Given the description of an element on the screen output the (x, y) to click on. 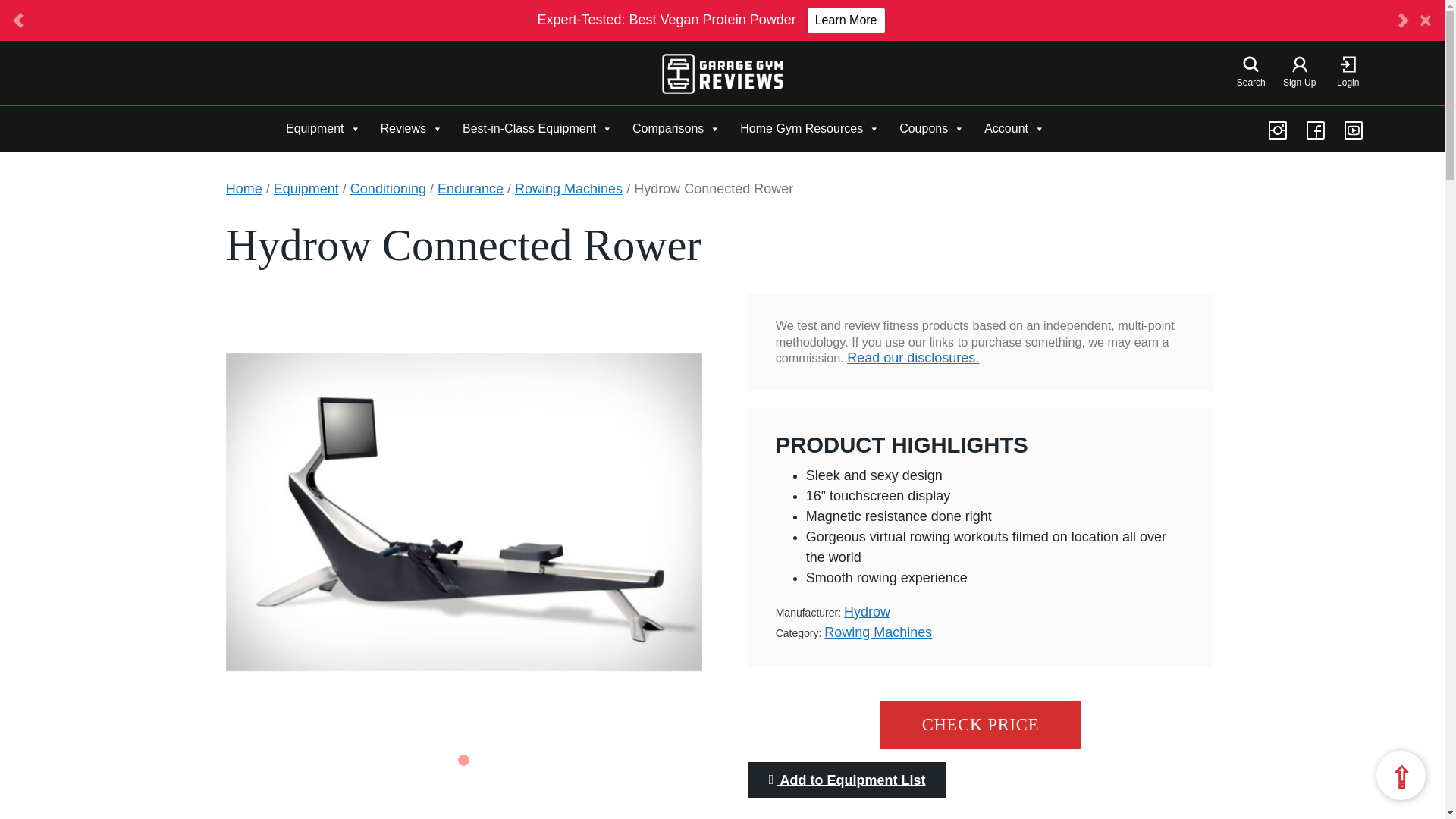
Search (1251, 73)
Login (1348, 73)
Sign-Up (1299, 73)
Back to Top (1400, 775)
Equipment (323, 128)
Expert-Tested: Best Vegan Protein Powder Learn More (710, 20)
Learn More (846, 20)
